Given the description of an element on the screen output the (x, y) to click on. 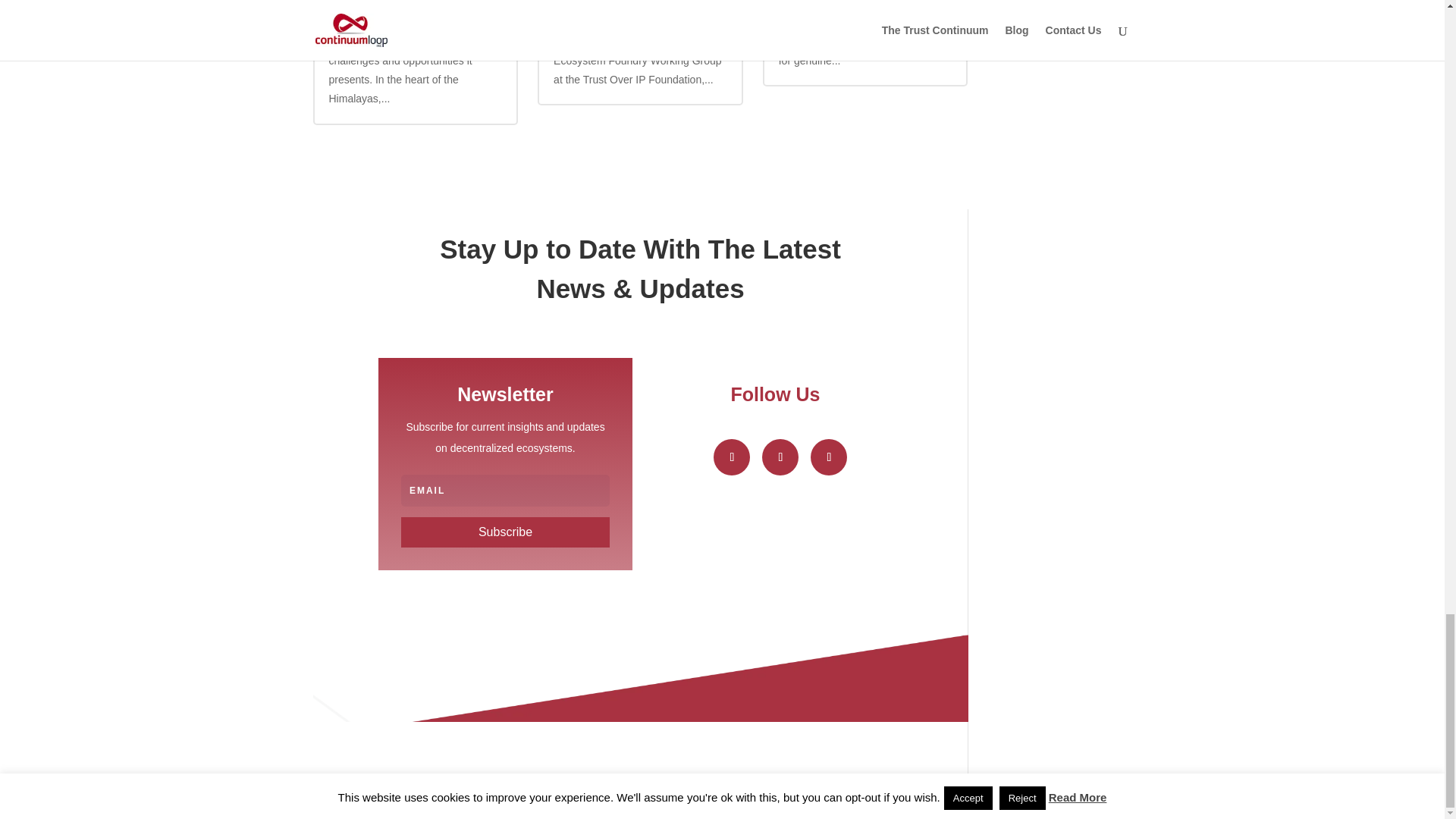
Follow on X (779, 456)
Follow on Youtube (828, 456)
Subscribe (505, 531)
Follow on LinkedIn (731, 456)
